Given the description of an element on the screen output the (x, y) to click on. 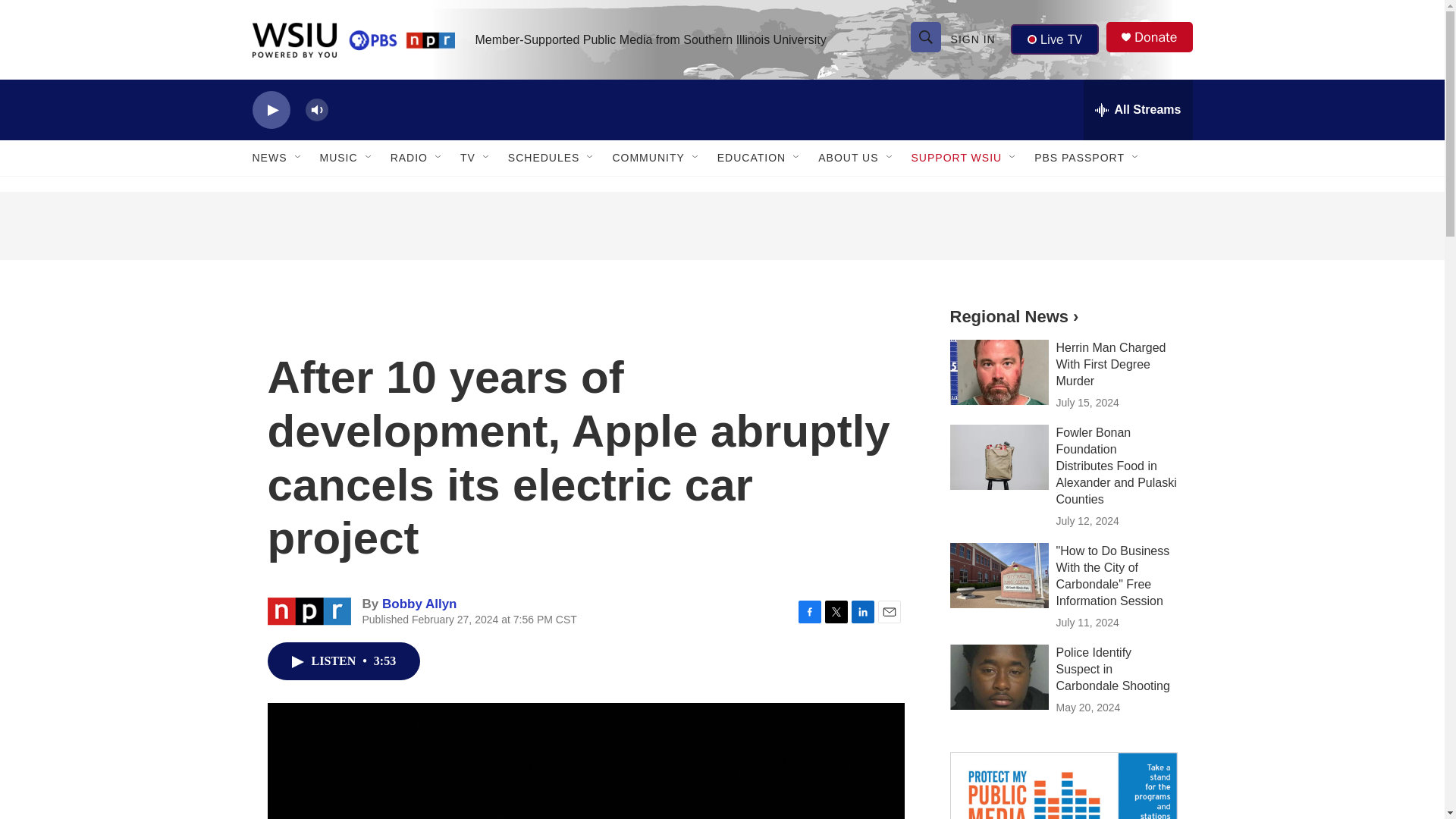
3rd party ad content (721, 225)
